Given the description of an element on the screen output the (x, y) to click on. 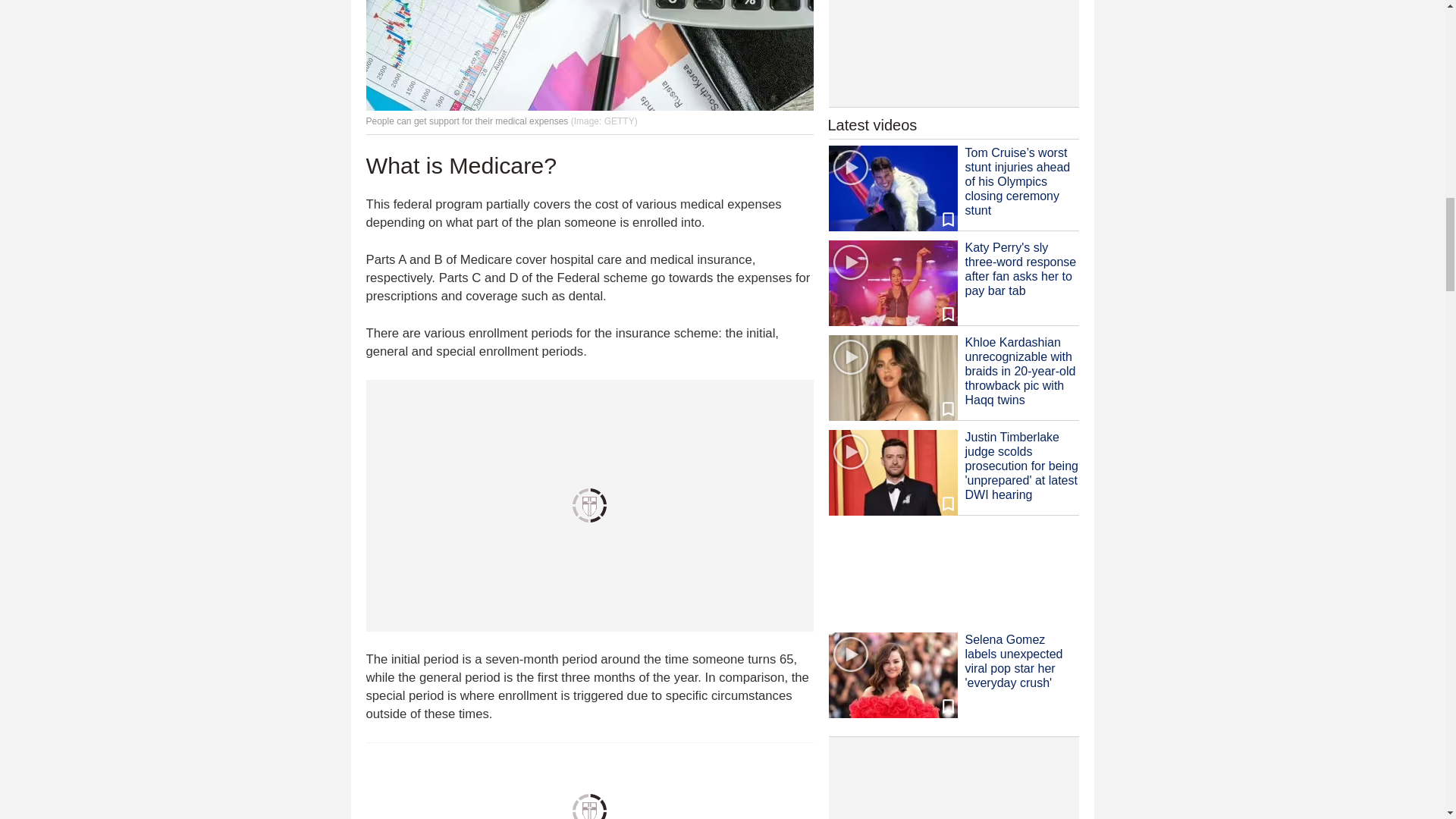
Katy Perry response fan pay bar tab (892, 282)
Medicare form (588, 55)
Selena Gomez chappell roan everyday crush (892, 675)
Justin Timberlake judge scolds prosecution DWI court hearing (892, 472)
Tom Cruise worst stunt injuries Olympics closing ceremony (892, 187)
Khloe Kardashian unrecognizable throwback pic Haqq twins  (892, 377)
